Given the description of an element on the screen output the (x, y) to click on. 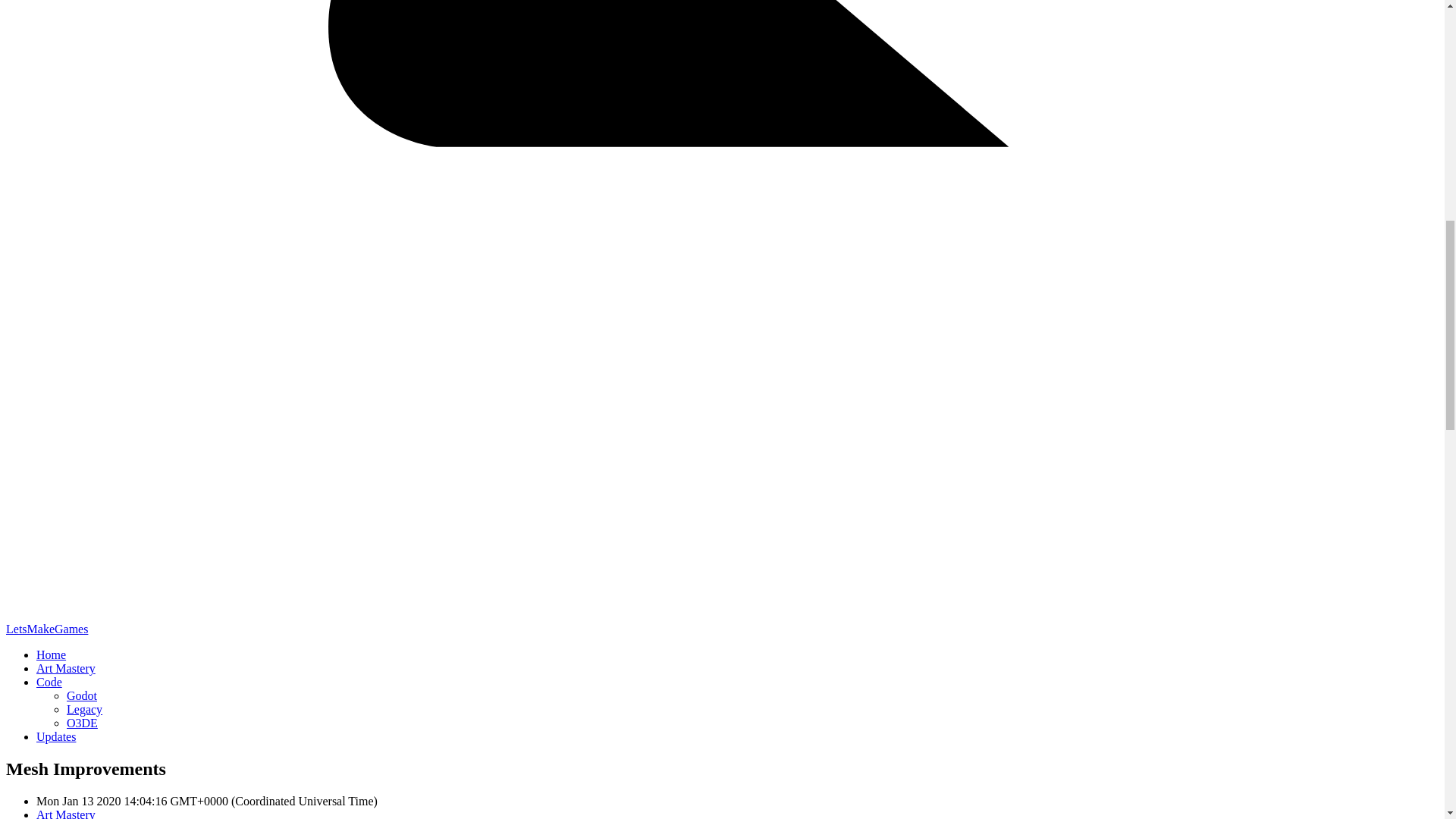
LetsMakeGames (46, 628)
Art Mastery (66, 813)
